Given the description of an element on the screen output the (x, y) to click on. 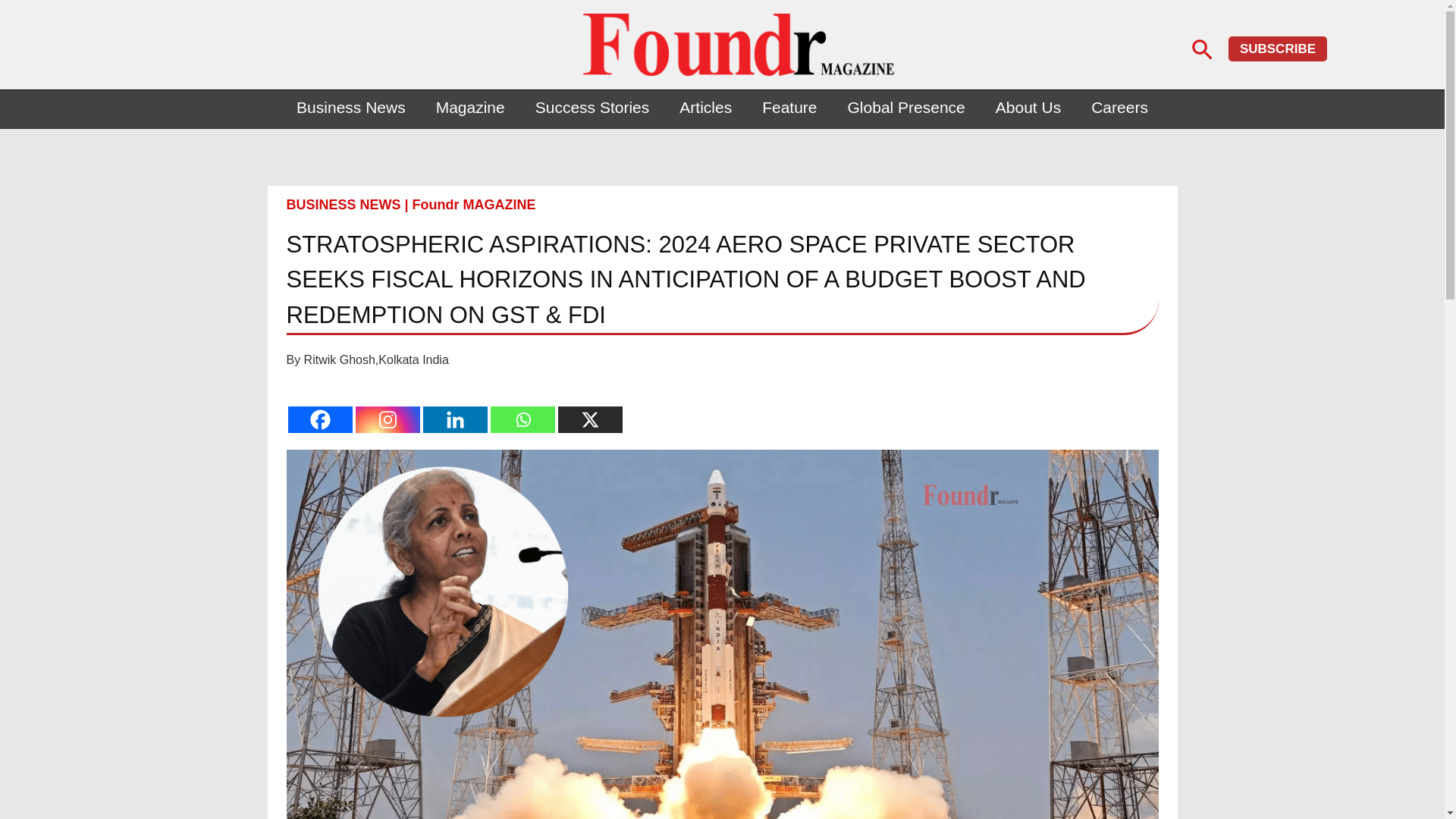
Feature (788, 107)
Instagram (387, 419)
Business News (350, 107)
Success Stories (592, 107)
SUBSCRIBE (1277, 48)
Global Presence (905, 107)
Articles (704, 107)
Magazine (469, 107)
About Us (1027, 107)
X (590, 419)
Linkedin (455, 419)
Whatsapp (521, 419)
Facebook (320, 419)
Careers (1119, 107)
